Given the description of an element on the screen output the (x, y) to click on. 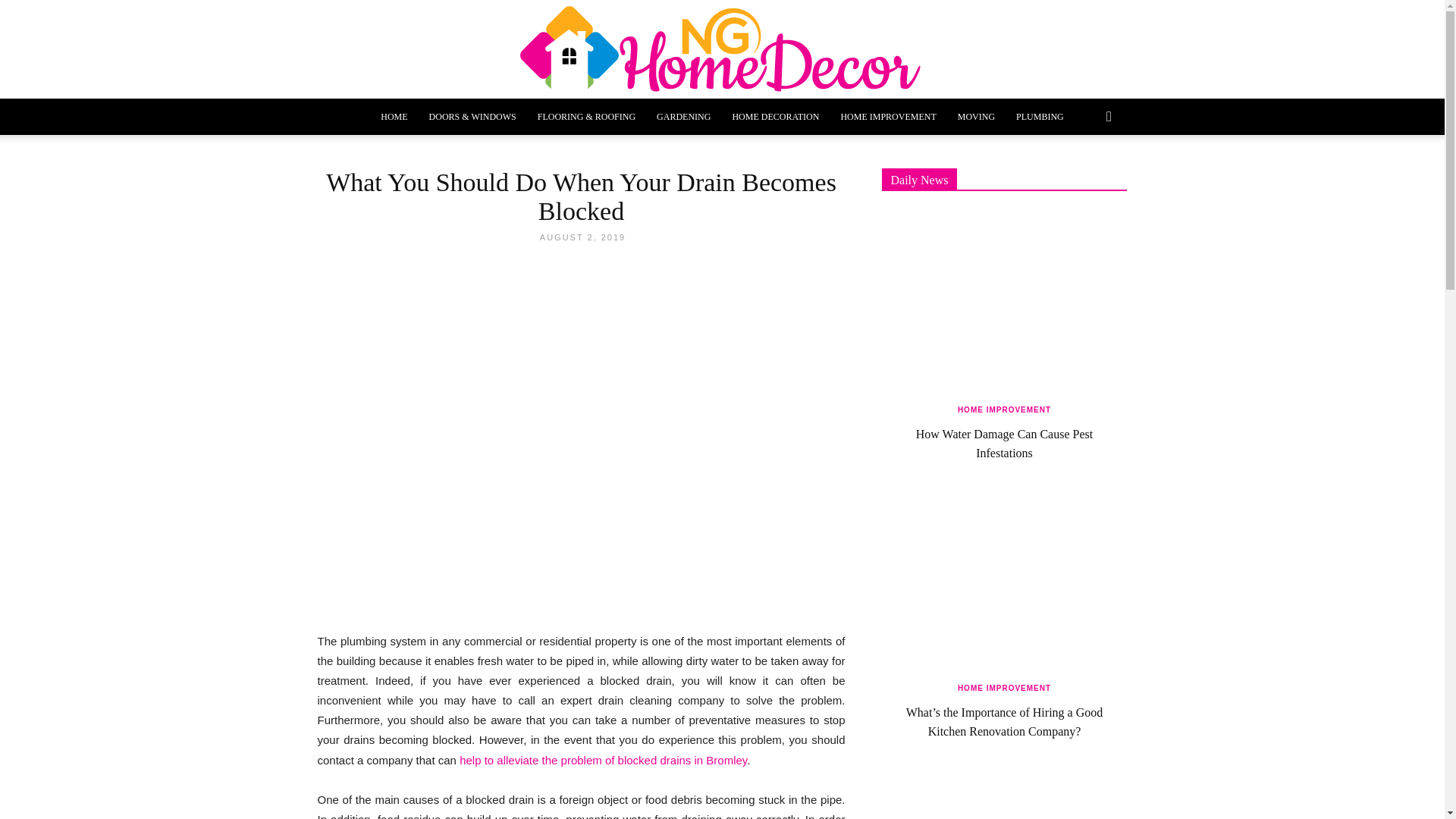
HOME IMPROVEMENT (887, 116)
PLUMBING (1040, 116)
Search (1083, 178)
MOVING (976, 116)
HOME DECORATION (774, 116)
GARDENING (683, 116)
help to alleviate the problem of blocked drains in Bromley (603, 759)
HOME (393, 116)
